Given the description of an element on the screen output the (x, y) to click on. 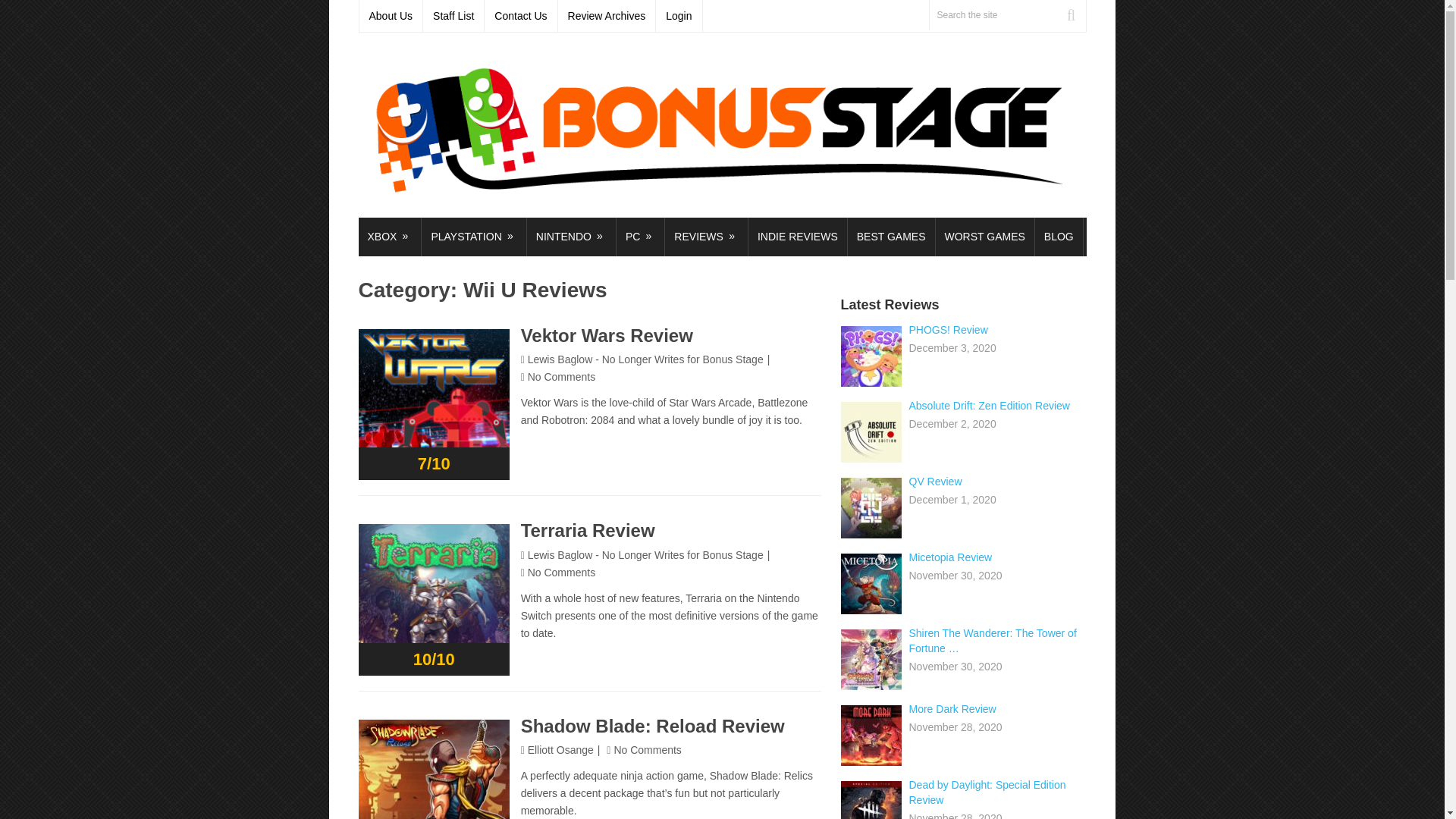
XBOX (389, 236)
Staff List (453, 15)
Review Archives (606, 15)
About Us (391, 15)
REVIEWS (706, 236)
NINTENDO (571, 236)
PLAYSTATION (473, 236)
Contact Us (520, 15)
PC (639, 236)
Login (678, 15)
